Given the description of an element on the screen output the (x, y) to click on. 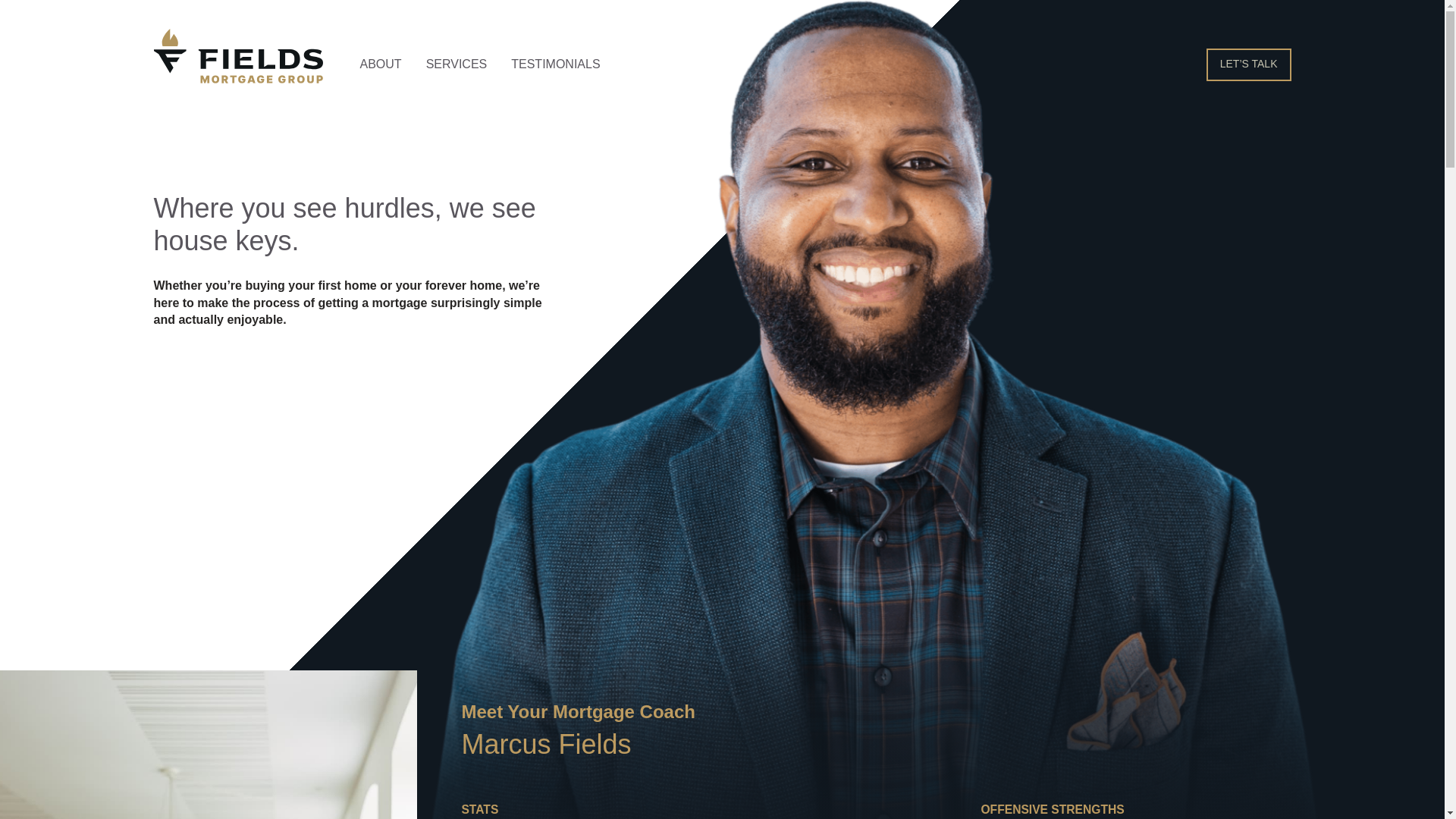
ABOUT (380, 64)
TESTIMONIALS (555, 64)
SERVICES (456, 64)
